Given the description of an element on the screen output the (x, y) to click on. 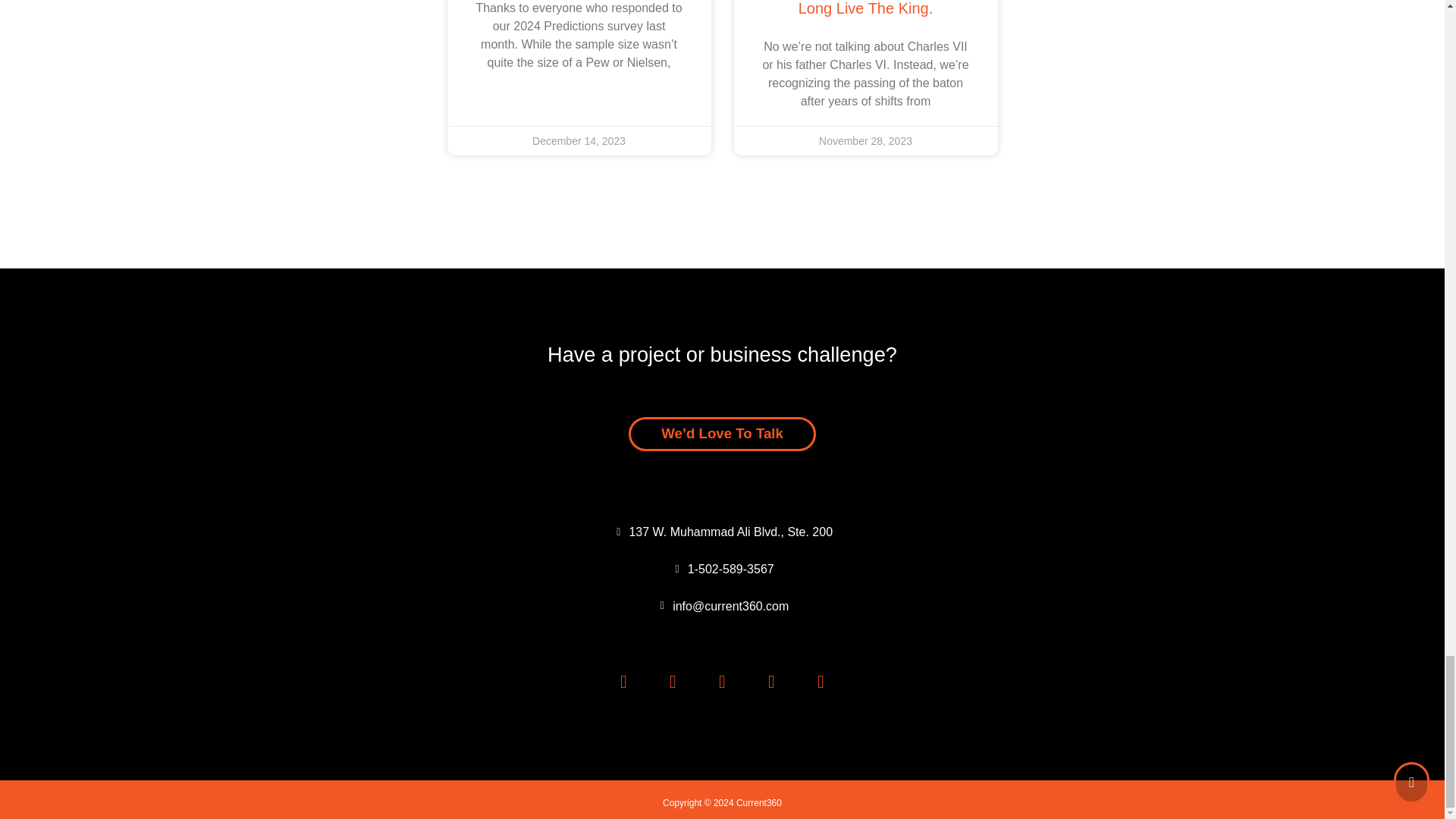
Facebook (673, 681)
1-502-589-3567 (722, 568)
Youtube (623, 681)
Instagram (865, 8)
